Given the description of an element on the screen output the (x, y) to click on. 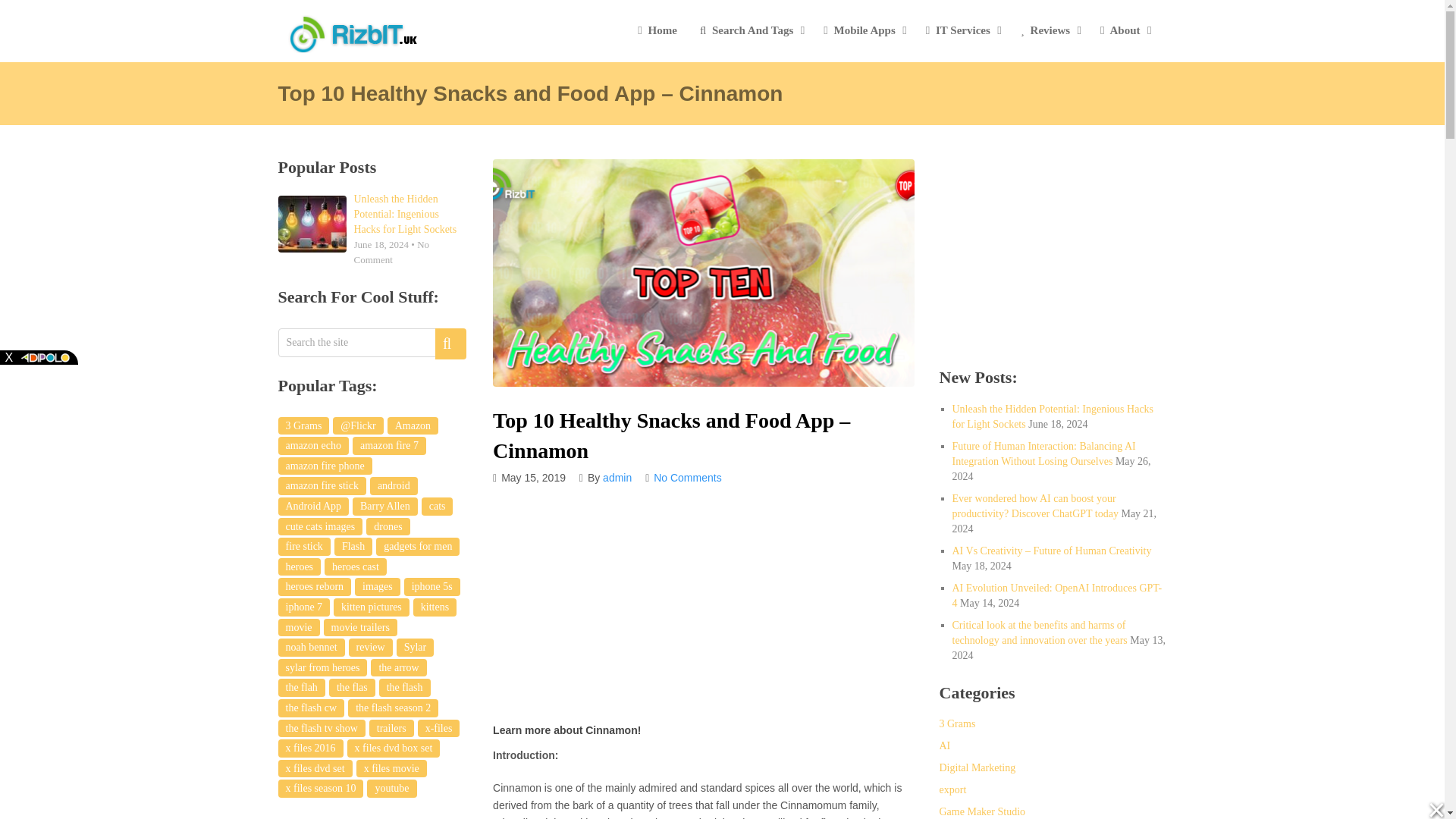
Search And Tags (750, 29)
amazon fire phone (324, 466)
amazon echo (312, 445)
amazon fire stick (321, 485)
About (1123, 29)
mobile phone apps (863, 29)
it services and marketing (961, 29)
amazon fire 7 (389, 445)
android (393, 485)
Posts by admin (616, 477)
Amazon (412, 425)
Mobile Apps (863, 29)
Reviews (1048, 29)
IT Services (961, 29)
